Given the description of an element on the screen output the (x, y) to click on. 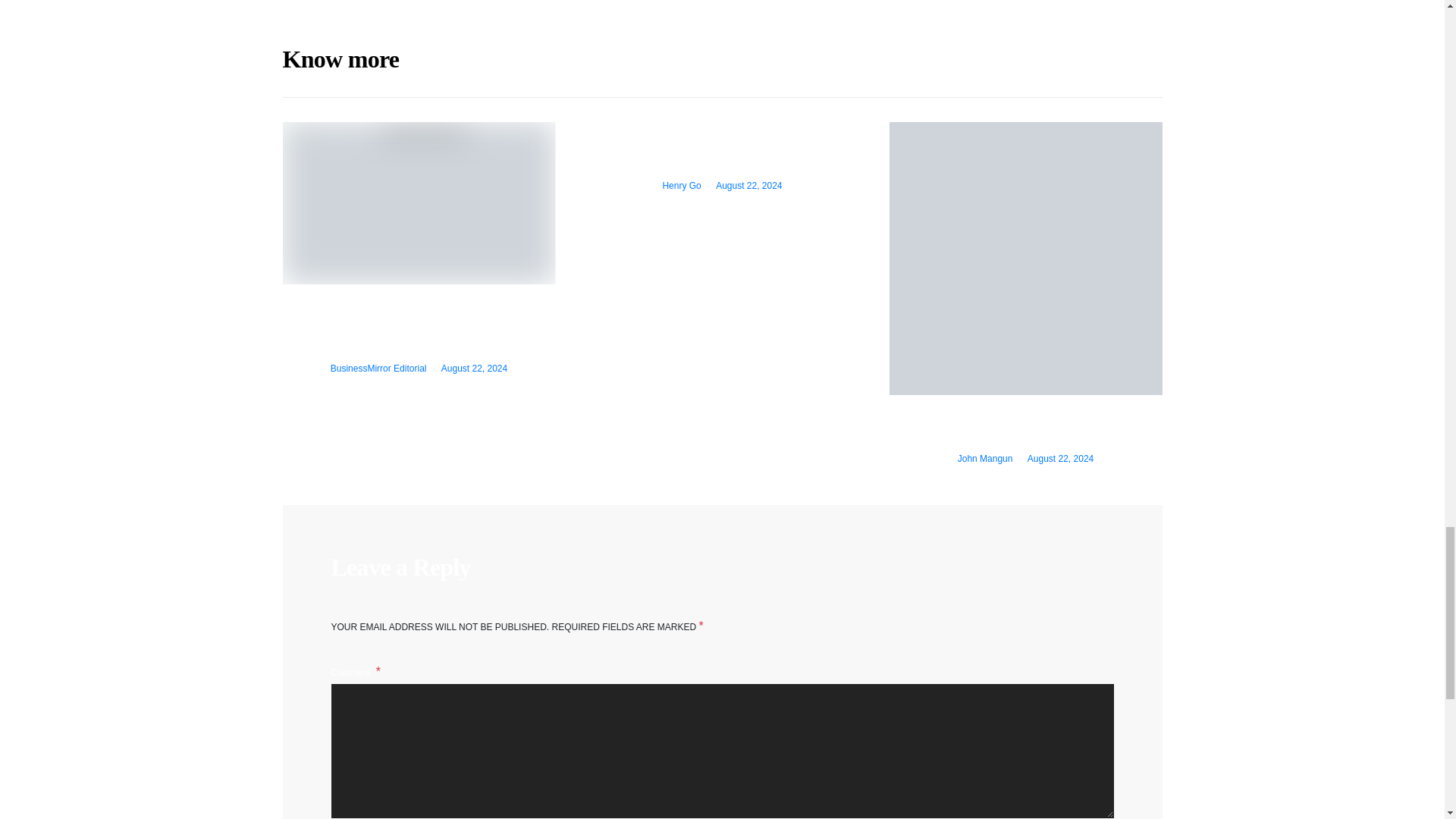
View all posts by Henry Go (681, 185)
View all posts by BusinessMirror Editorial (378, 368)
View all posts by John Mangun (985, 458)
